Given the description of an element on the screen output the (x, y) to click on. 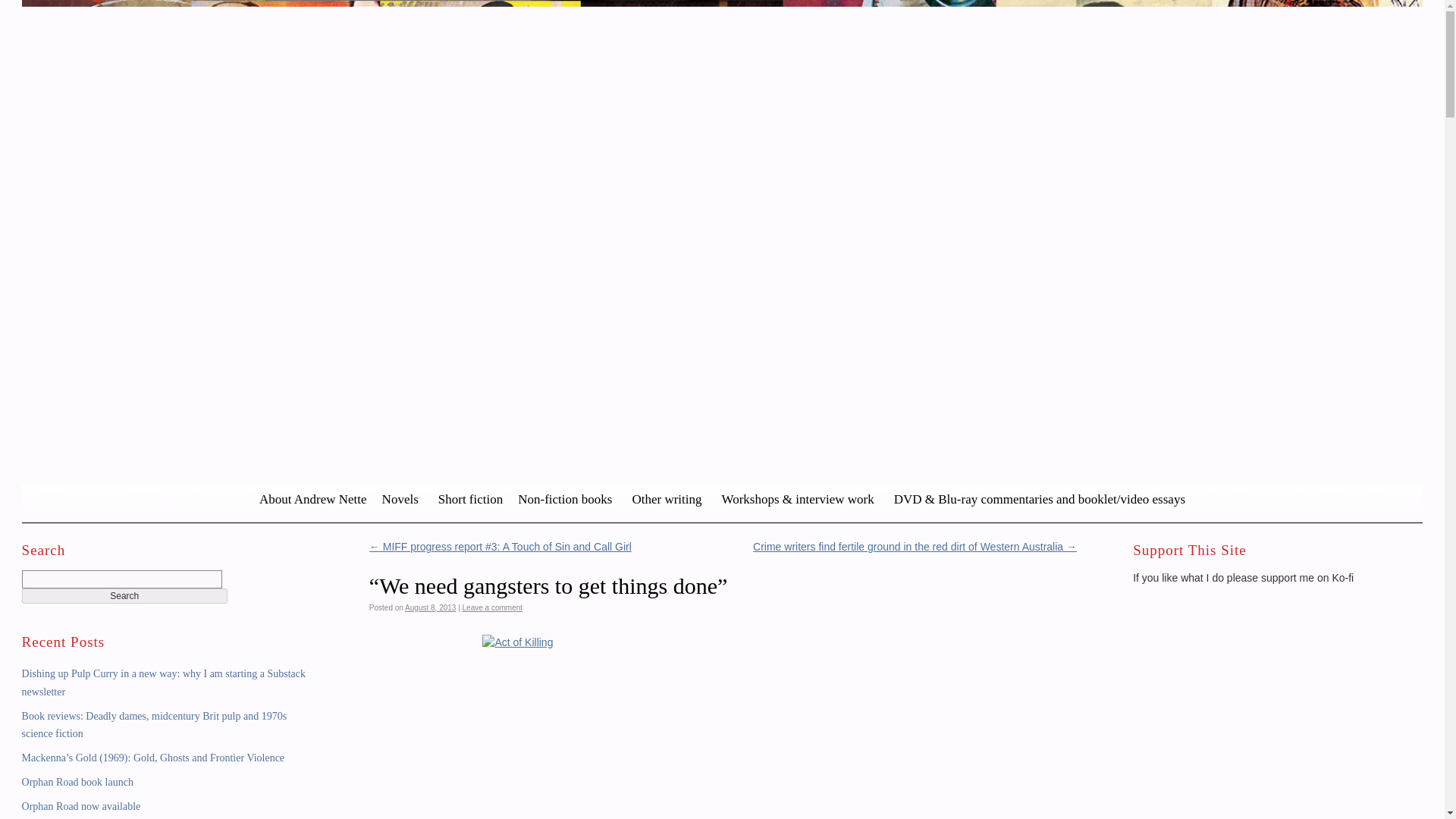
August 8, 2013 (429, 607)
Leave a comment (492, 607)
Search (124, 595)
Non-fiction books (567, 499)
7:57 pm (429, 607)
Other writing (668, 499)
Novels (402, 499)
Short fiction (470, 499)
About Andrew Nette (312, 499)
